Given the description of an element on the screen output the (x, y) to click on. 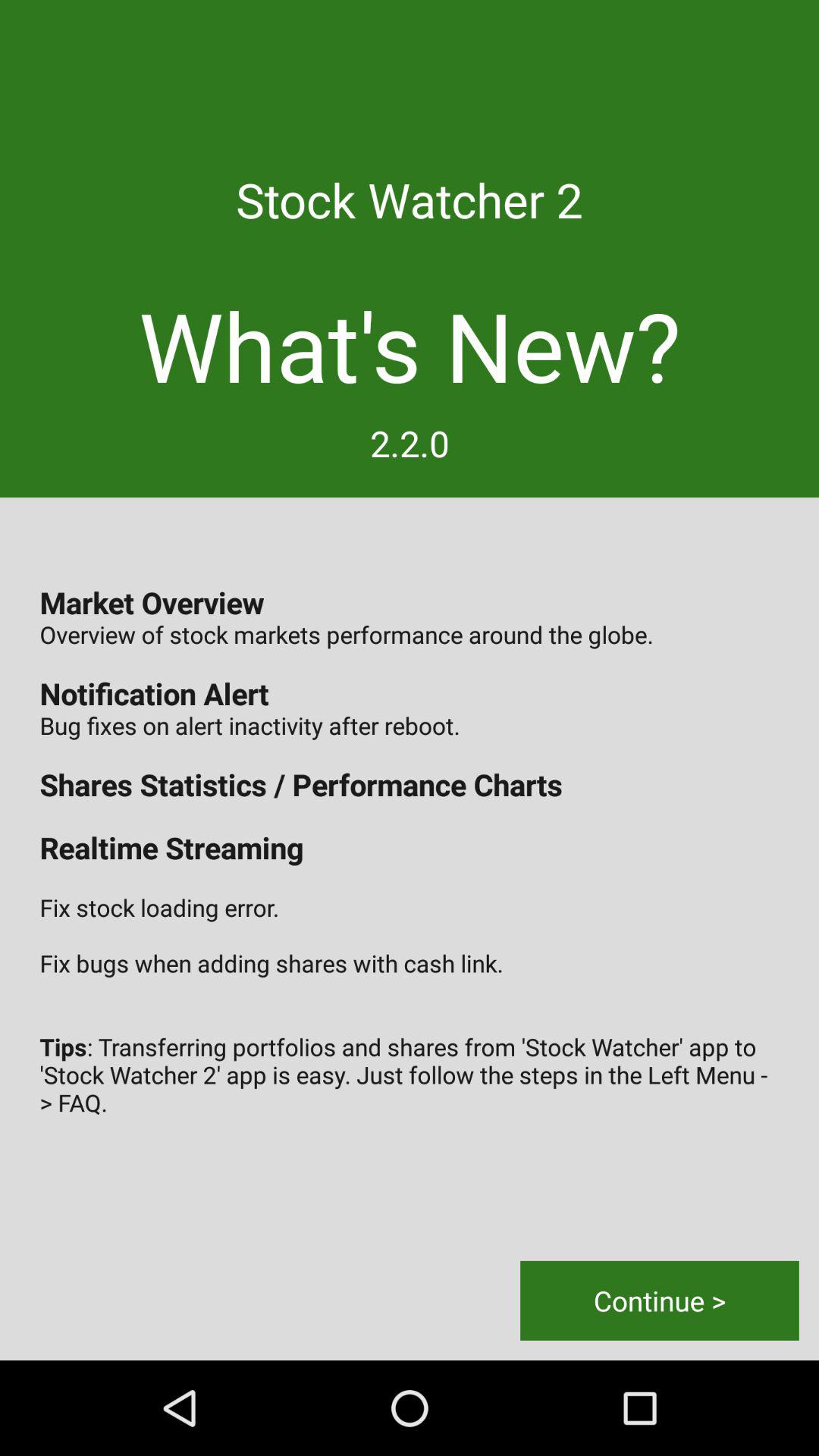
click the item below the market overview overview icon (659, 1300)
